Given the description of an element on the screen output the (x, y) to click on. 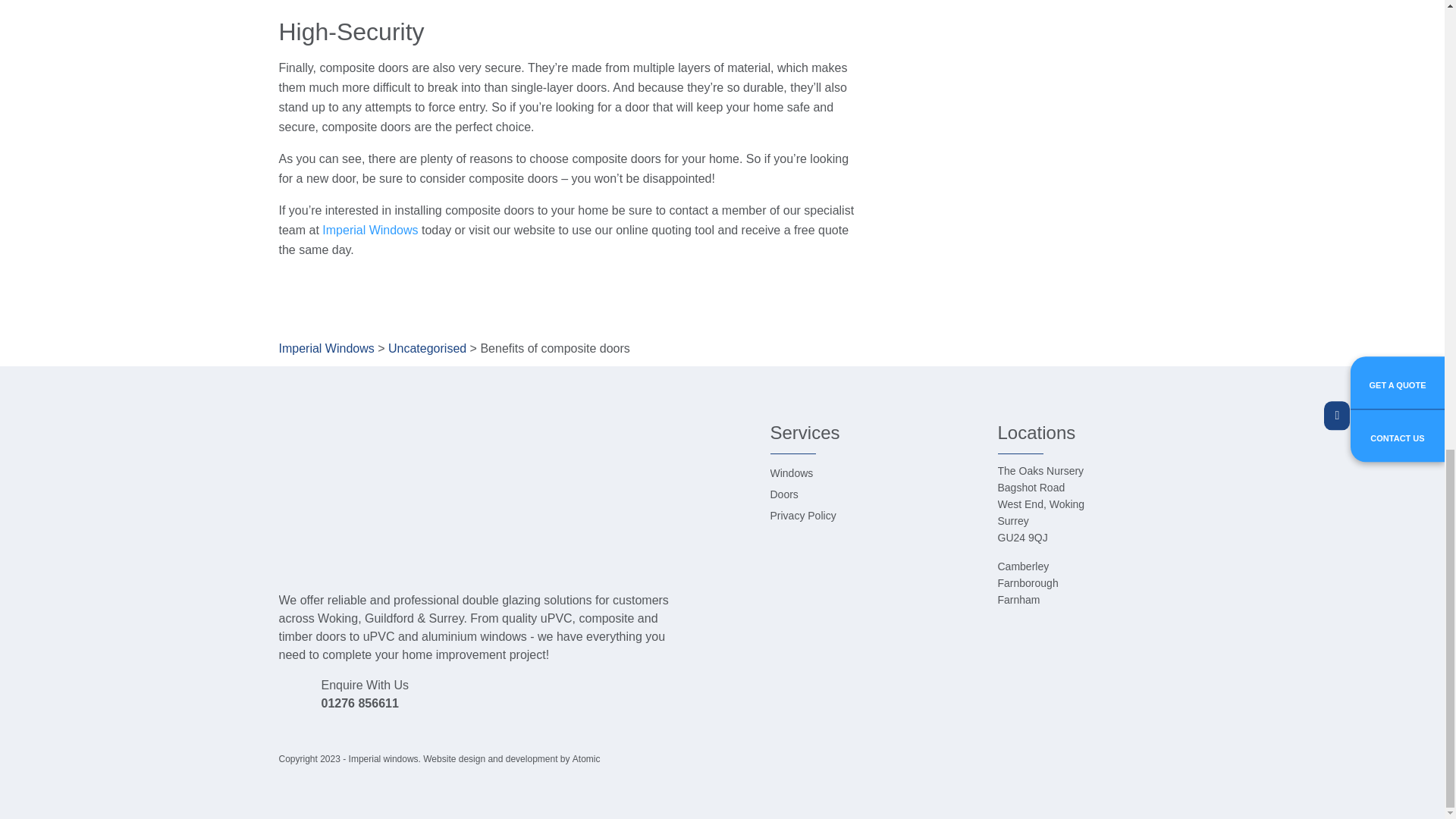
Go to the Uncategorised Category archives. (426, 348)
Go to Imperial Windows. (326, 348)
